Given the description of an element on the screen output the (x, y) to click on. 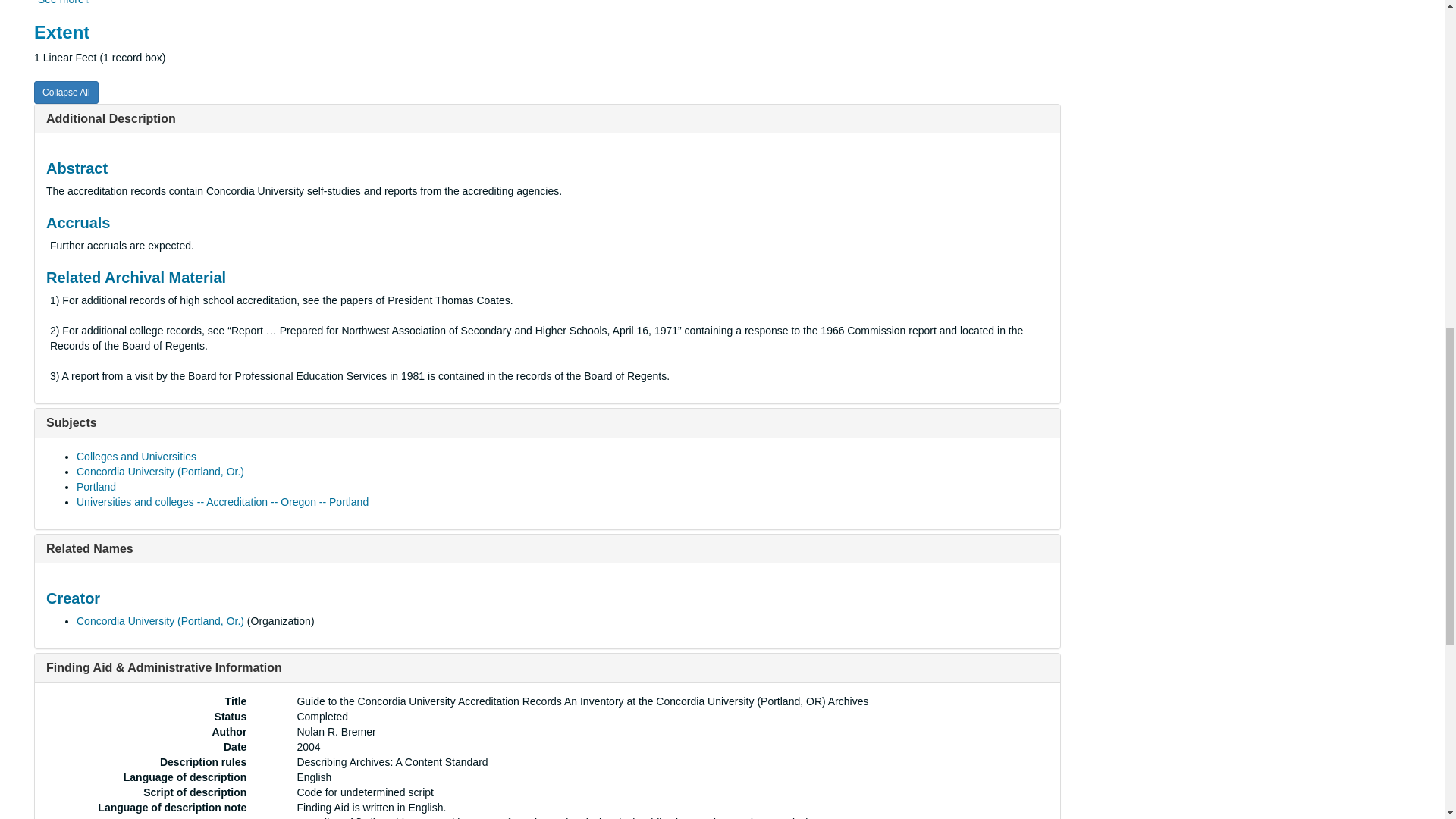
Related Names (89, 548)
Additional Description (111, 118)
See more (63, 2)
Colleges and Universities (136, 456)
Portland (96, 486)
Subjects (71, 422)
Collapse All (66, 92)
